Given the description of an element on the screen output the (x, y) to click on. 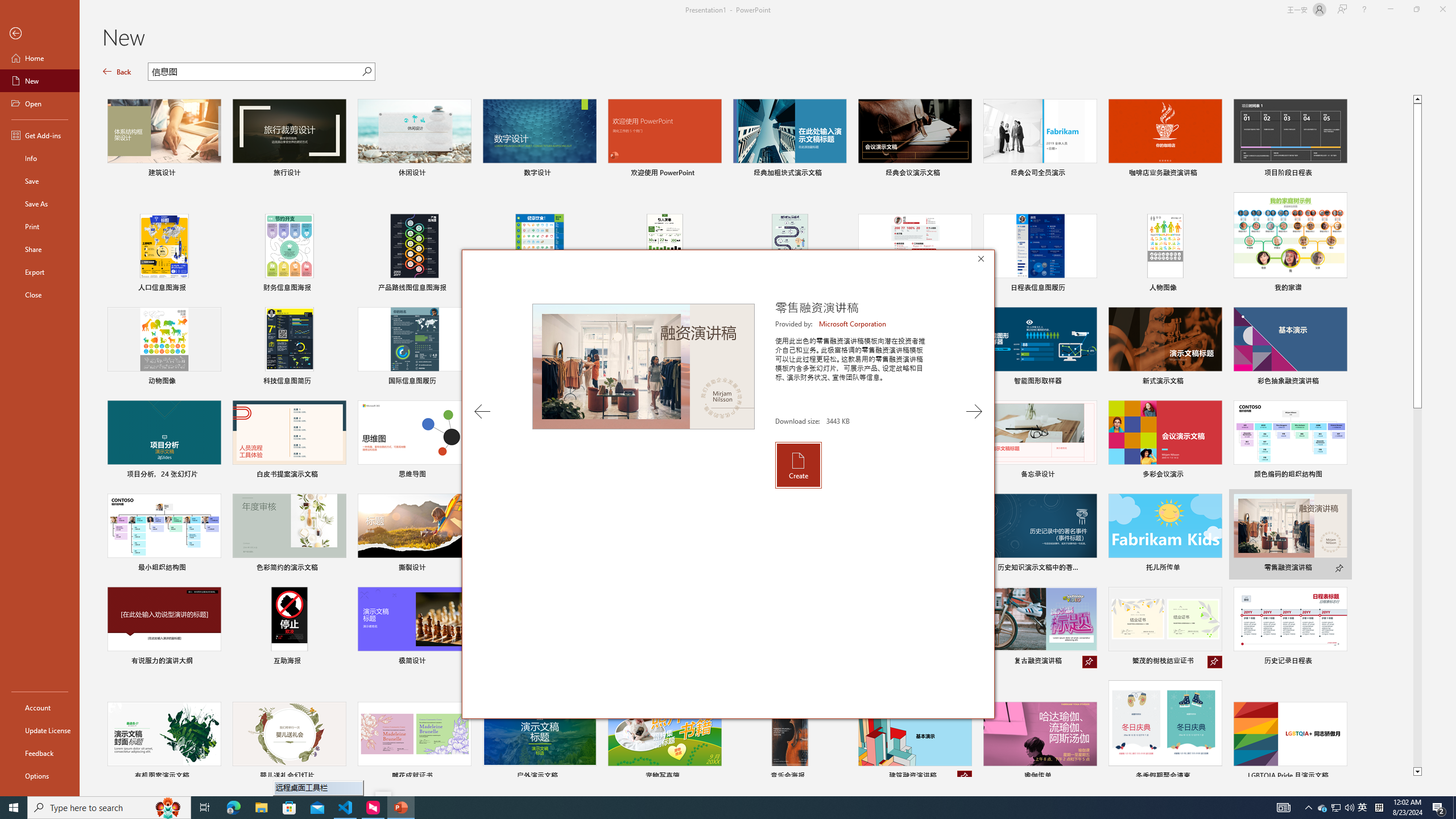
Pin to list (1339, 776)
Microsoft Corporation (853, 323)
Next Template (974, 411)
